Given the description of an element on the screen output the (x, y) to click on. 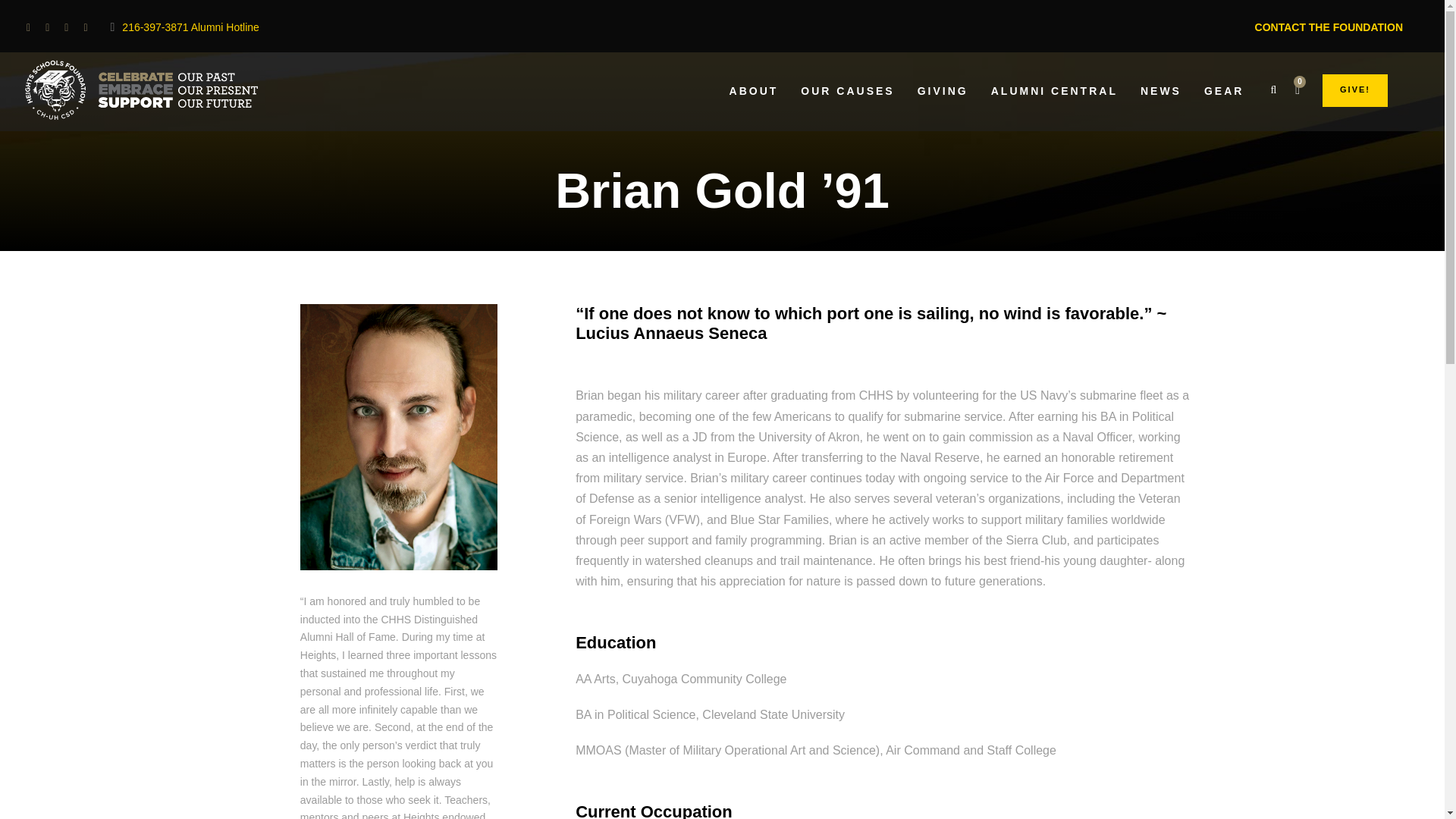
HSF-logo-HW2023 (134, 89)
